Given the description of an element on the screen output the (x, y) to click on. 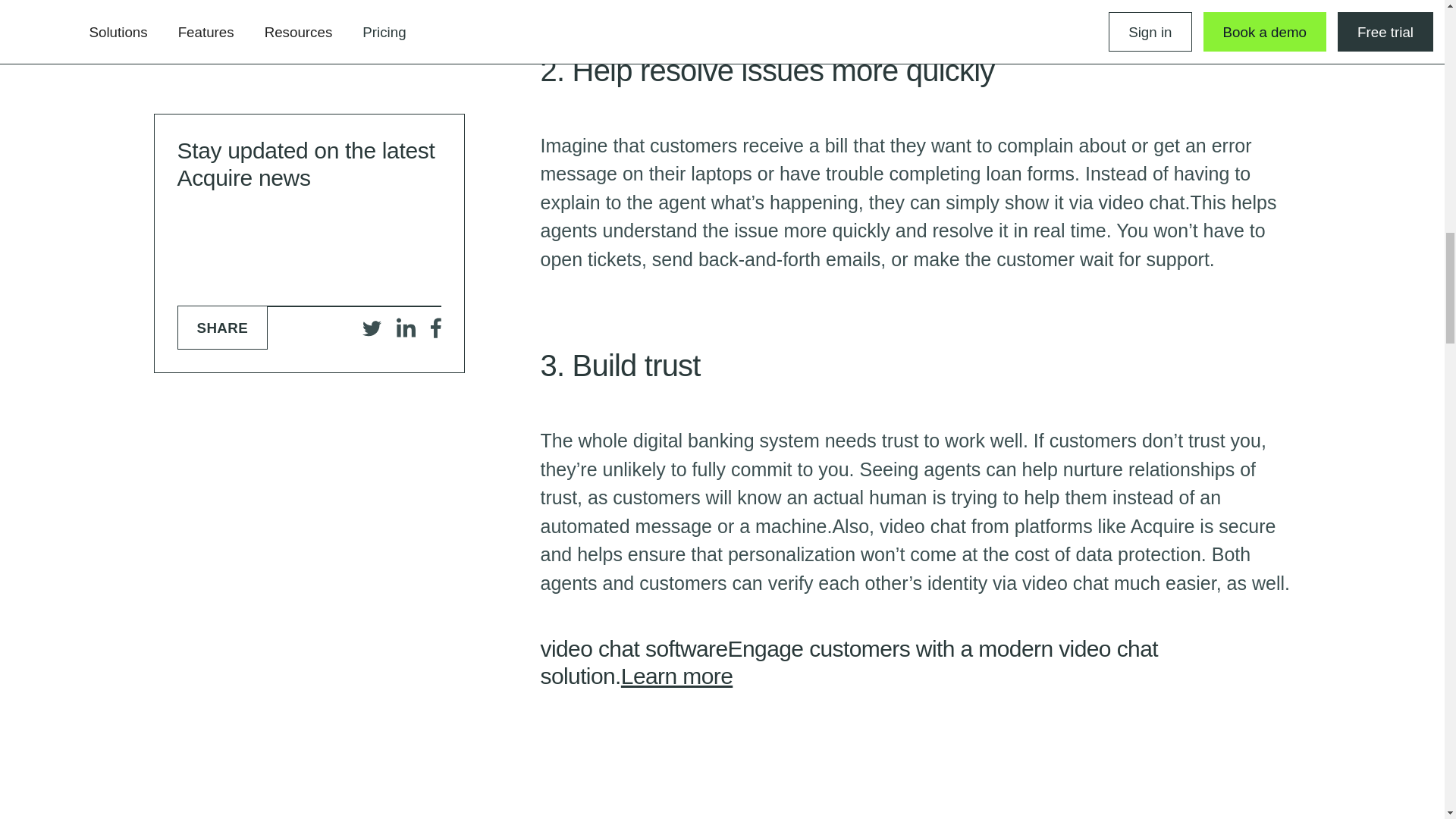
Learn more (676, 675)
